Given the description of an element on the screen output the (x, y) to click on. 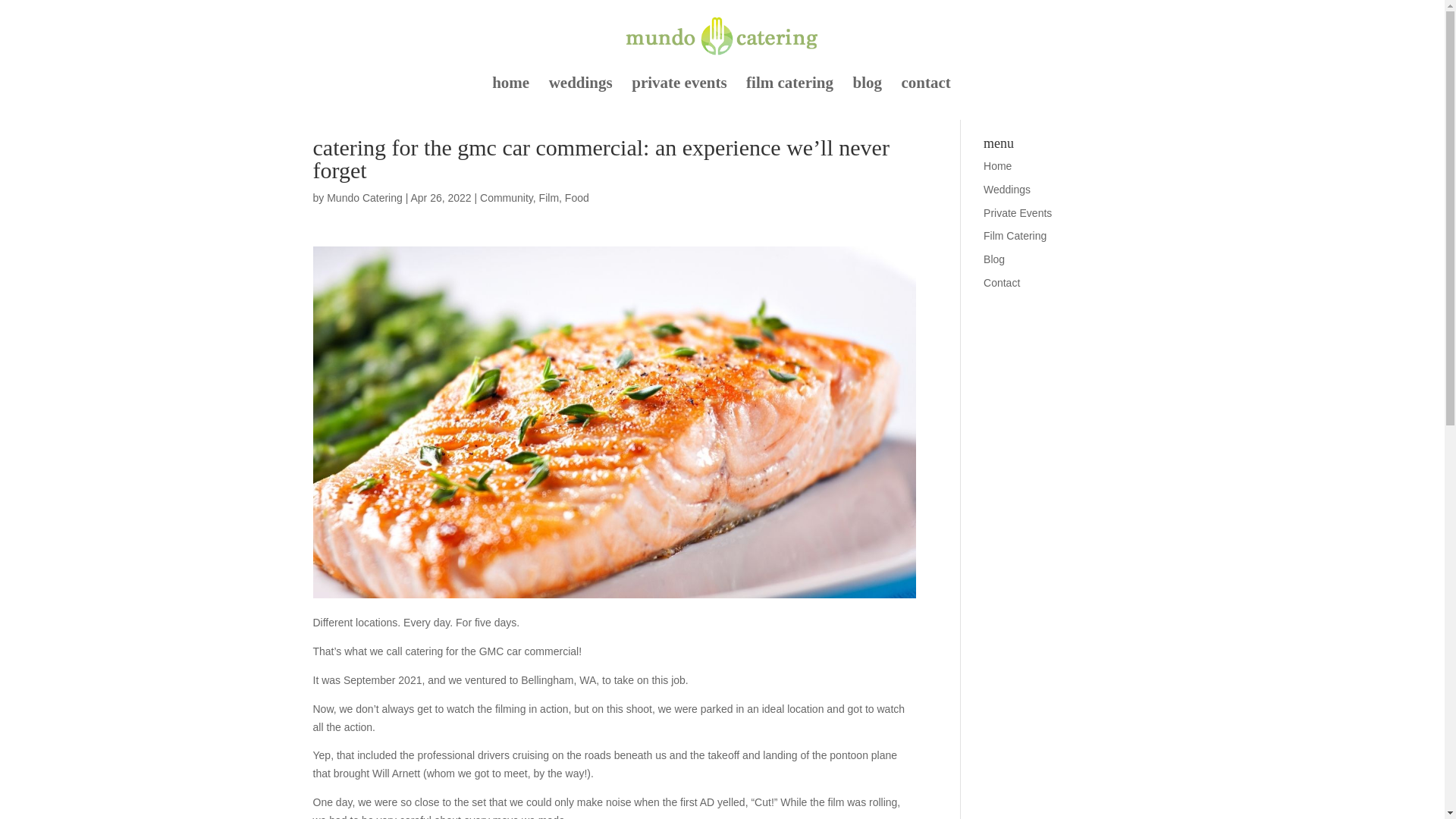
Private Events (1017, 213)
weddings (580, 97)
Home (997, 165)
contact (925, 97)
Community (506, 197)
Film Catering (1015, 235)
Film (548, 197)
film catering (788, 97)
Mundo Catering (364, 197)
Blog (994, 259)
private events (678, 97)
Contact (1002, 282)
Posts by Mundo Catering (364, 197)
Weddings (1007, 189)
home (510, 97)
